Given the description of an element on the screen output the (x, y) to click on. 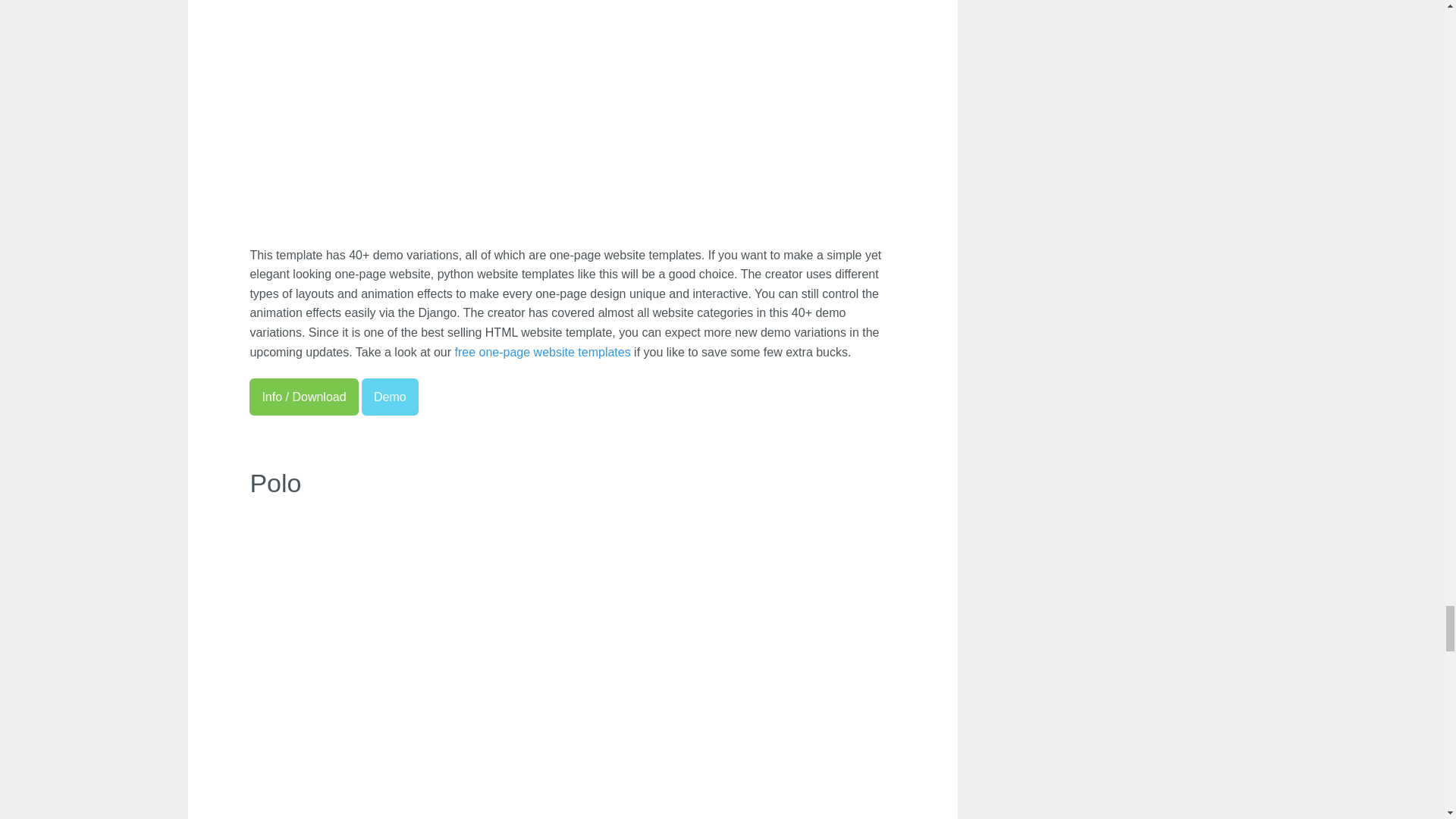
free one-page website templates (542, 351)
Demo (390, 397)
